Given the description of an element on the screen output the (x, y) to click on. 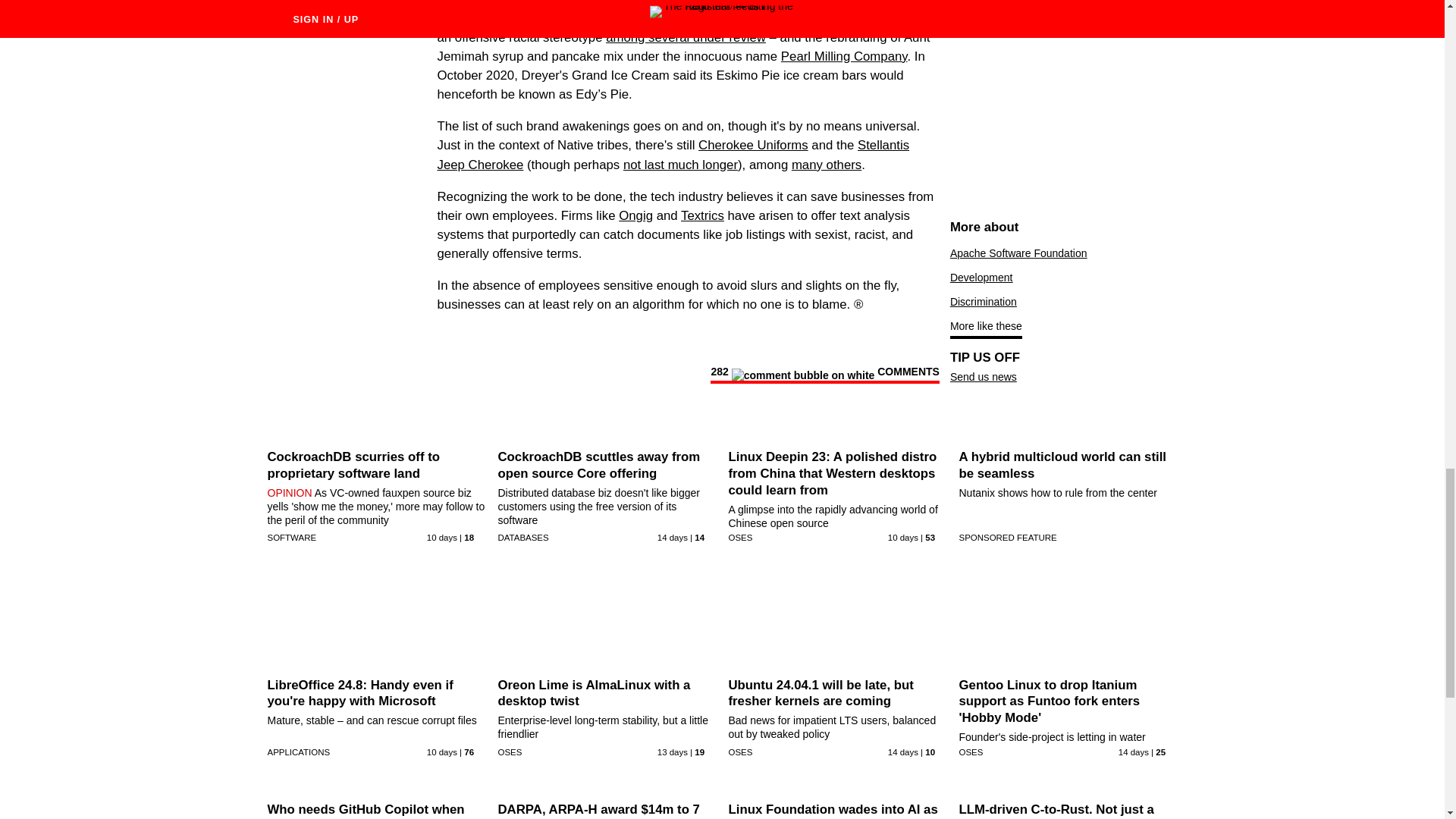
23 Aug 2024 8:29 (441, 751)
20 Aug 2024 12:0 (672, 751)
23 Aug 2024 17:28 (903, 537)
19 Aug 2024 16:44 (1133, 751)
19 Aug 2024 15:15 (903, 751)
23 Aug 2024 11:29 (441, 537)
View comments on this article (824, 374)
19 Aug 2024 11:5 (672, 537)
